Given the description of an element on the screen output the (x, y) to click on. 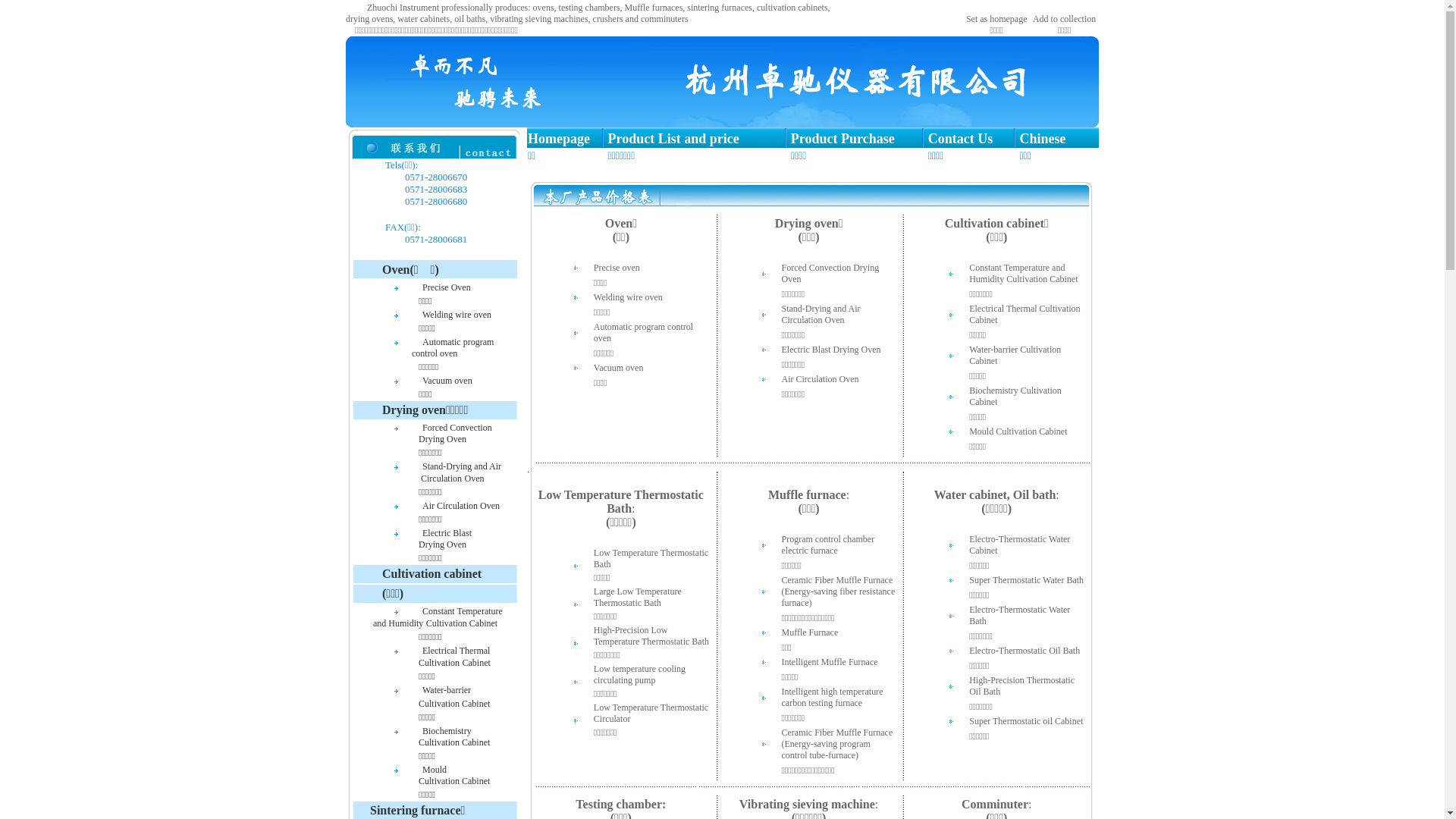
Electric Blast
Drying Oven Element type: text (408, 538)
Mould
Cultivation Cabinet Element type: text (417, 774)
Electrical Thermal Cultivation Cabinet Element type: text (1024, 313)
Electrical Thermal
Cultivation Cabinet Element type: text (417, 656)
Forced Convection Drying Oven Element type: text (829, 272)
Biochemistry Cultivation Cabinet Element type: text (1015, 395)
Contact Us Element type: text (960, 138)
Set as homepage Element type: text (996, 18)
Program control chamber electric furnace Element type: text (827, 544)
Low Temperature Thermostatic Circulator Element type: text (650, 712)
Muffle Furnace Element type: text (809, 631)
Water-barrier Cultivation Cabinet Element type: text (1014, 354)
Vacuum oven Element type: text (618, 367)
Water-barrier
Cultivation Cabinet Element type: text (417, 696)
Drying oven Element type: text (806, 222)
Product List and price Element type: text (673, 138)
Biochemistry
Cultivation Cabinet Element type: text (417, 735)
Stand-Drying and Air Circulation Oven Element type: text (820, 313)
Product Purchase Element type: text (842, 138)
Low Temperature Thermostatic Bath Element type: text (620, 501)
Low temperature cooling circulating pump Element type: text (639, 673)
Homepage Element type: text (558, 138)
Cultivation cabinet Element type: text (994, 222)
Welding wire oven Element type: text (627, 296)
Precise oven Element type: text (616, 267)
Chinese Element type: text (1042, 138)
Vacuum oven Element type: text (447, 379)
Welding wire oven Element type: text (456, 314)
Precise Oven Element type: text (451, 286)
Comminuter Element type: text (994, 803)
Constant Temperature
and Humidity Cultivation Cabinet Element type: text (423, 616)
Automatic program control oven Element type: text (643, 331)
Air Circulation Oven Element type: text (460, 505)
Super Thermostatic Water Bath Element type: text (1026, 579)
Vibrating sieving machine Element type: text (807, 803)
Intelligent Muffle Furnace Element type: text (829, 661)
Add to collection Element type: text (1063, 18)
Intelligent high temperature carbon testing furnace Element type: text (831, 696)
Oven Element type: text (618, 222)
Automatic program
control oven Element type: text (419, 346)
Super Thermostatic oil Cabinet Element type: text (1025, 720)
Water cabinet, Oil bath Element type: text (995, 494)
Stand-Drying and Air
Circulation Oven Element type: text (423, 471)
Electro-Thermostatic Water Cabinet Element type: text (1019, 544)
High-Precision Low Temperature Thermostatic Bath Element type: text (651, 635)
Electro-Thermostatic Oil Bath Element type: text (1024, 649)
Constant Temperature and Humidity Cultivation Cabinet Element type: text (1023, 272)
Large Low Temperature Thermostatic Bath Element type: text (637, 596)
Testing chamber: Element type: text (620, 803)
Electric Blast Drying Oven Element type: text (830, 348)
Electro-Thermostatic Water Bath Element type: text (1019, 614)
Mould Cultivation Cabinet Element type: text (1017, 430)
Cultivation cabinet Element type: text (431, 573)
Forced Convection
Drying Oven Element type: text (418, 432)
Low Temperature Thermostatic Bath Element type: text (650, 557)
Air Circulation Oven Element type: text (819, 378)
Muffle furnace Element type: text (807, 494)
High-Precision Thermostatic Oil Bath Element type: text (1021, 685)
